Given the description of an element on the screen output the (x, y) to click on. 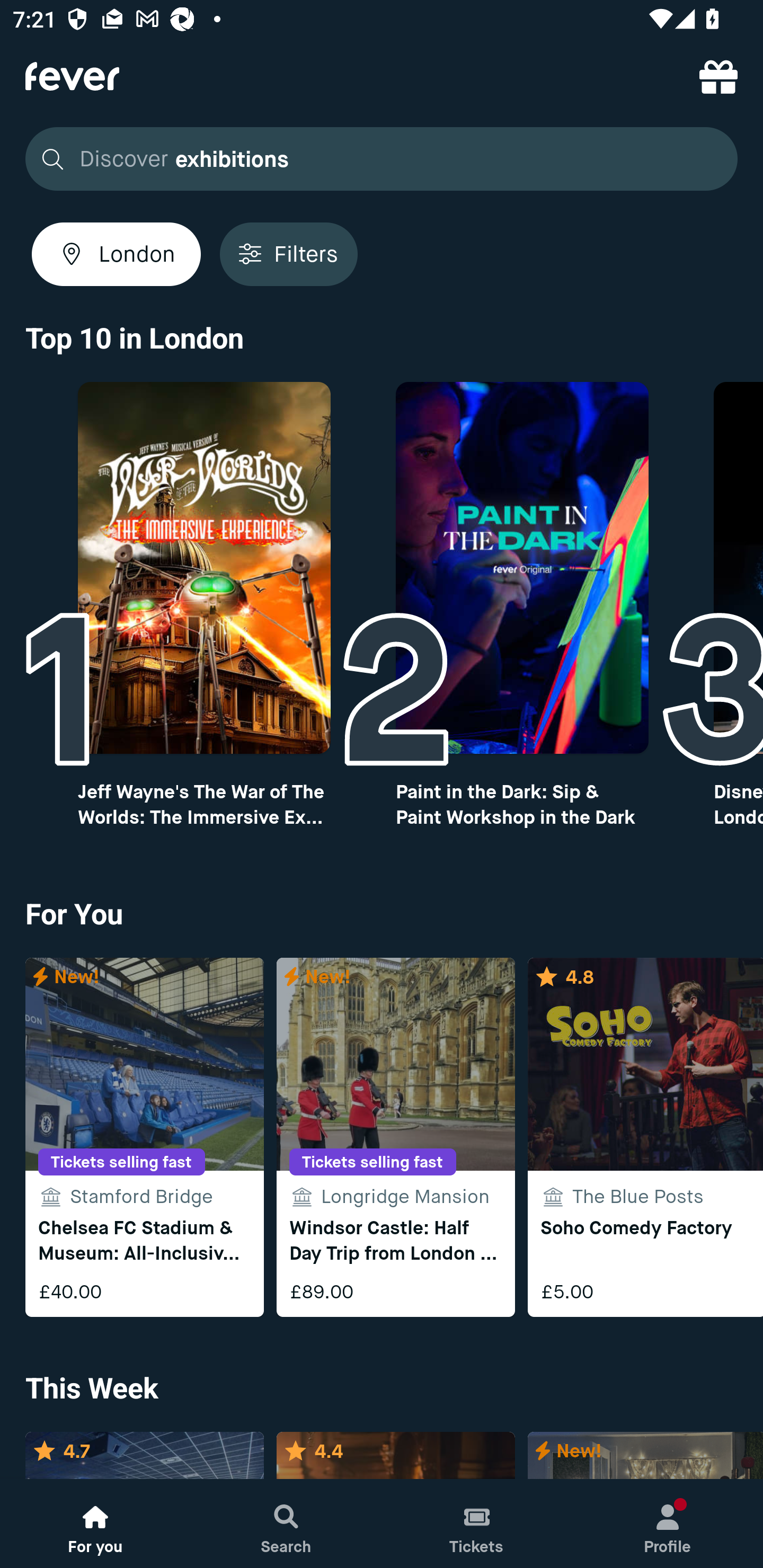
referral (718, 75)
Discover exhibitions (381, 158)
Discover exhibitions (376, 158)
London (116, 253)
Filters (288, 253)
Top10 image (203, 568)
Top10 image (521, 568)
Search (285, 1523)
Tickets (476, 1523)
Profile, New notification Profile (667, 1523)
